Given the description of an element on the screen output the (x, y) to click on. 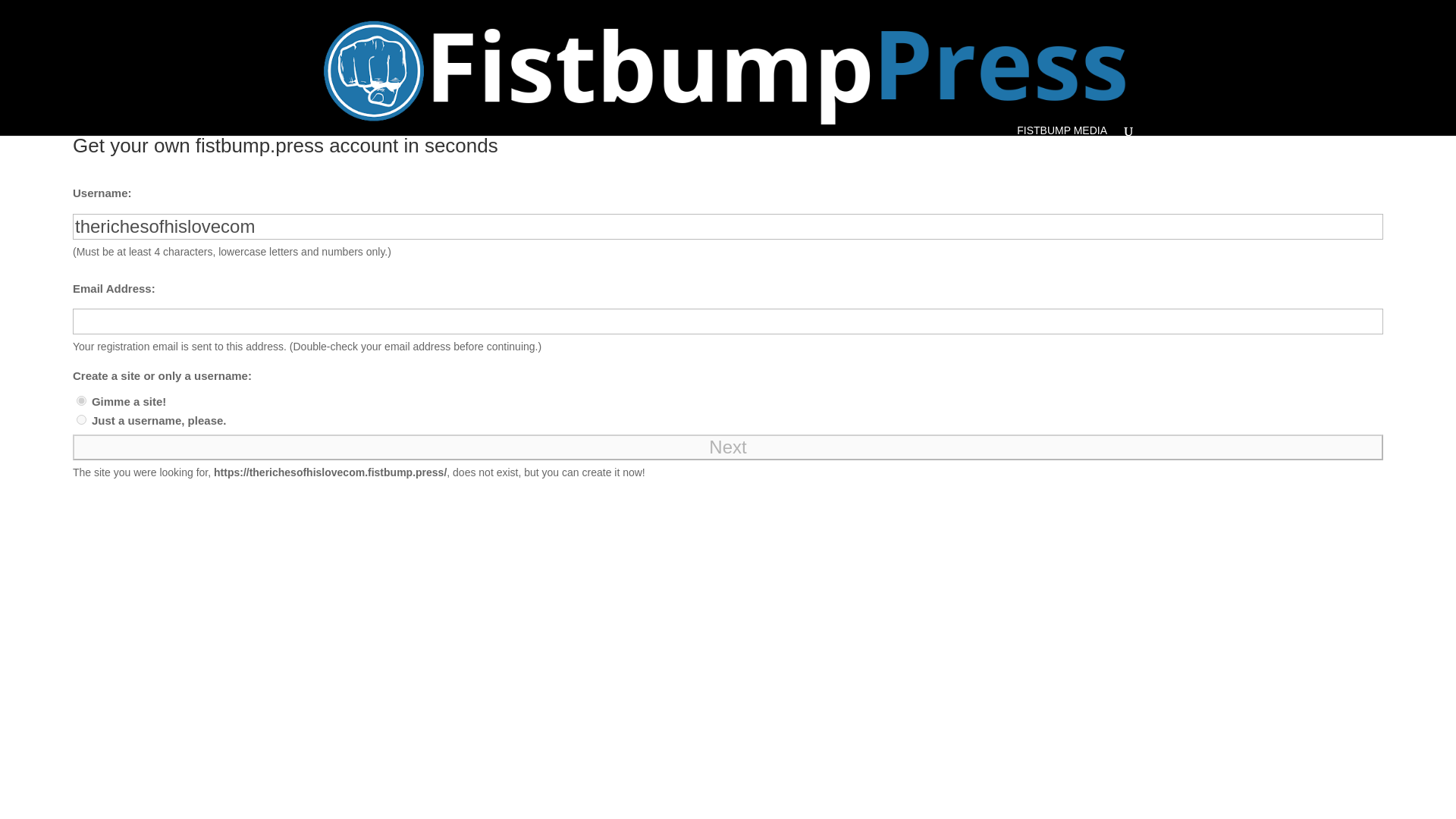
blog (81, 400)
Next (727, 447)
therichesofhislovecom (727, 226)
Next (727, 447)
user (81, 419)
FISTBUMP MEDIA (1061, 130)
